Given the description of an element on the screen output the (x, y) to click on. 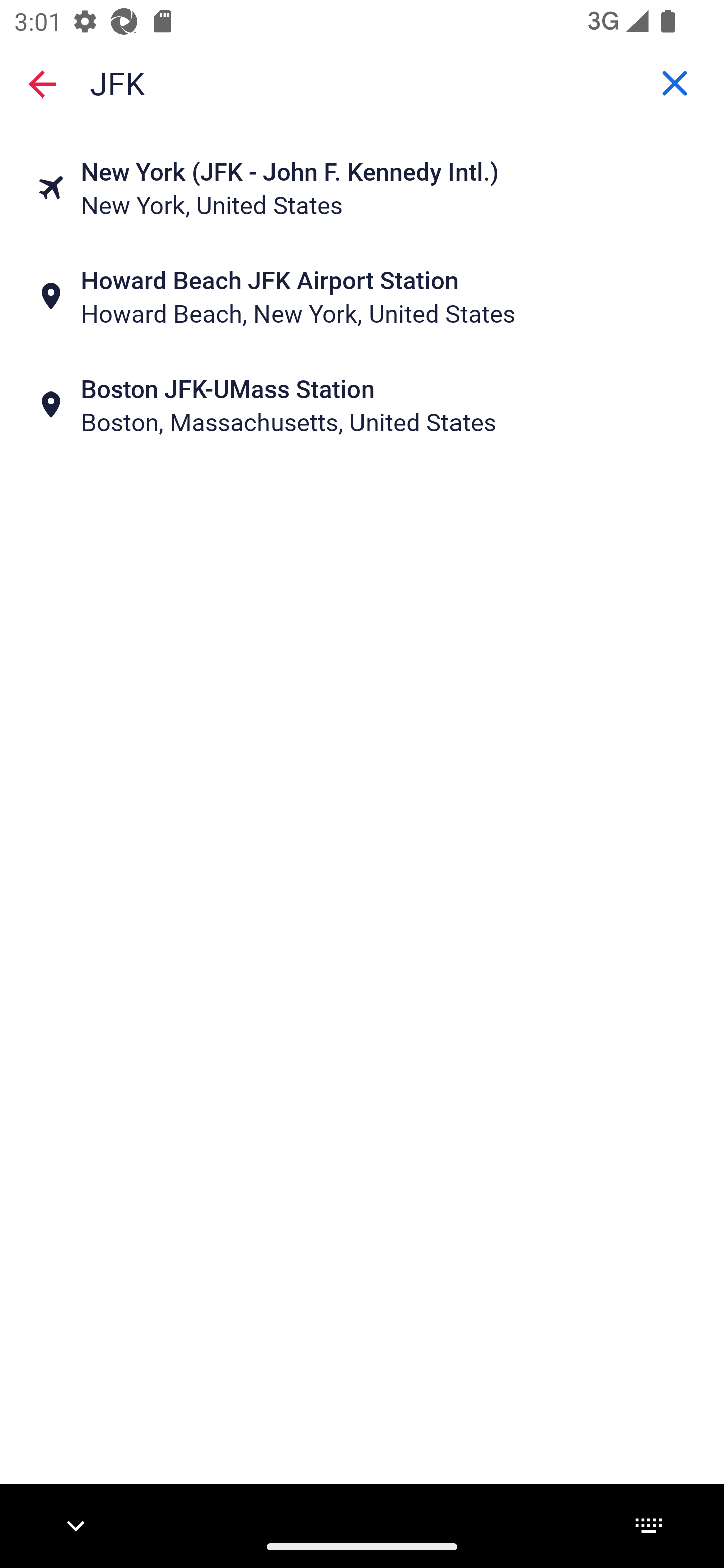
Clear Drop-off (674, 82)
Drop-off, JFK (361, 82)
Close search screen (41, 83)
